Given the description of an element on the screen output the (x, y) to click on. 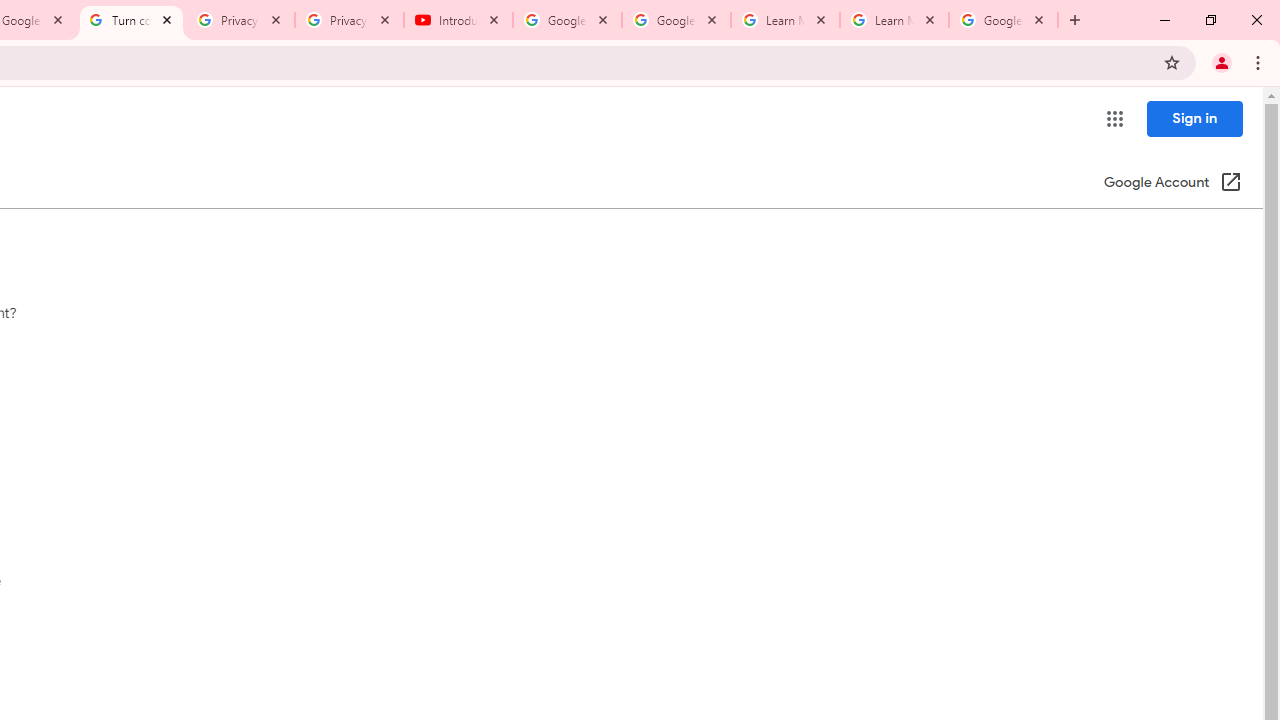
Google Account (Open in a new window) (1172, 183)
Turn cookies on or off - Computer - Google Account Help (130, 20)
